Given the description of an element on the screen output the (x, y) to click on. 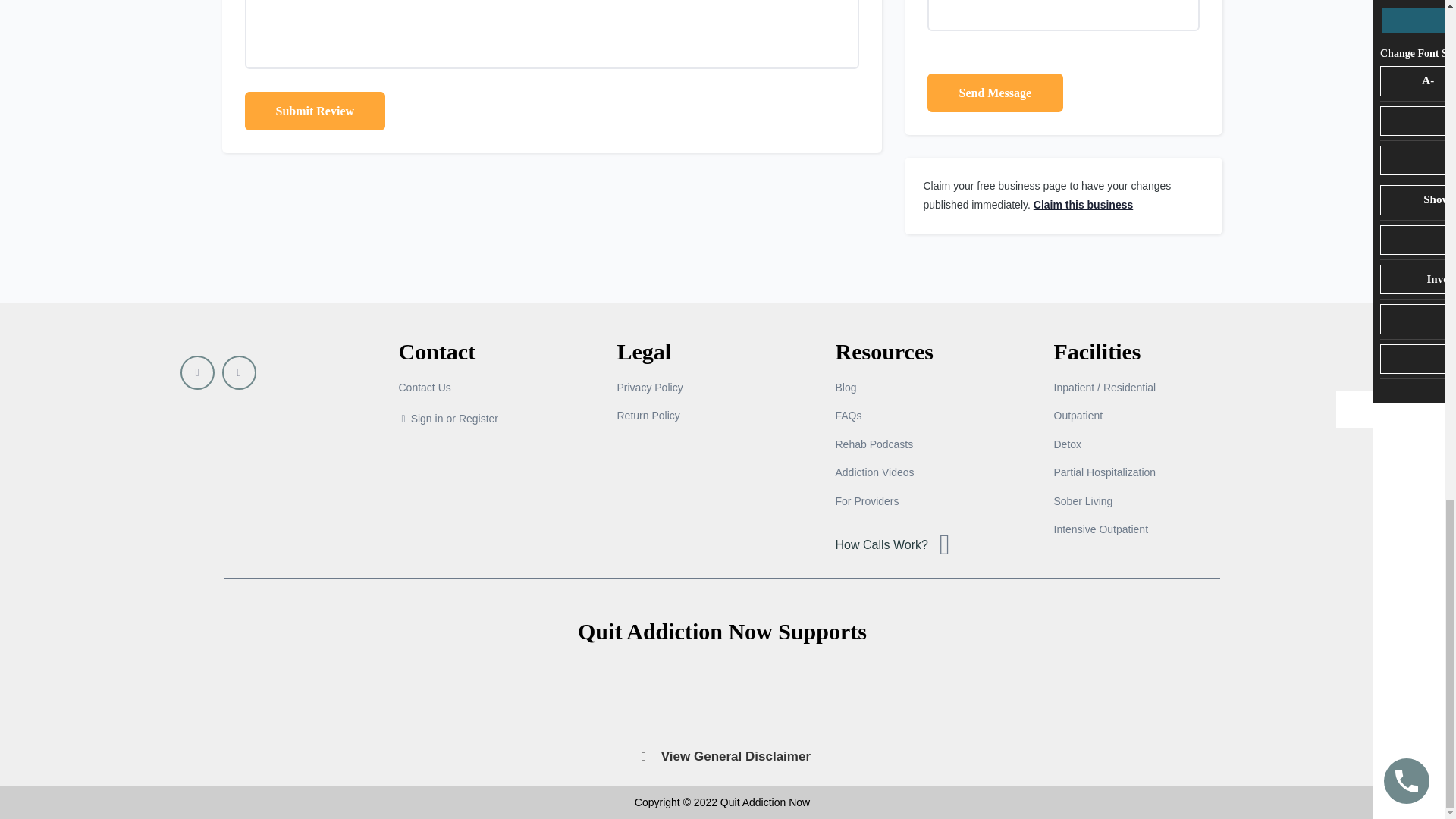
Send Message (994, 92)
Submit Review (314, 110)
